Given the description of an element on the screen output the (x, y) to click on. 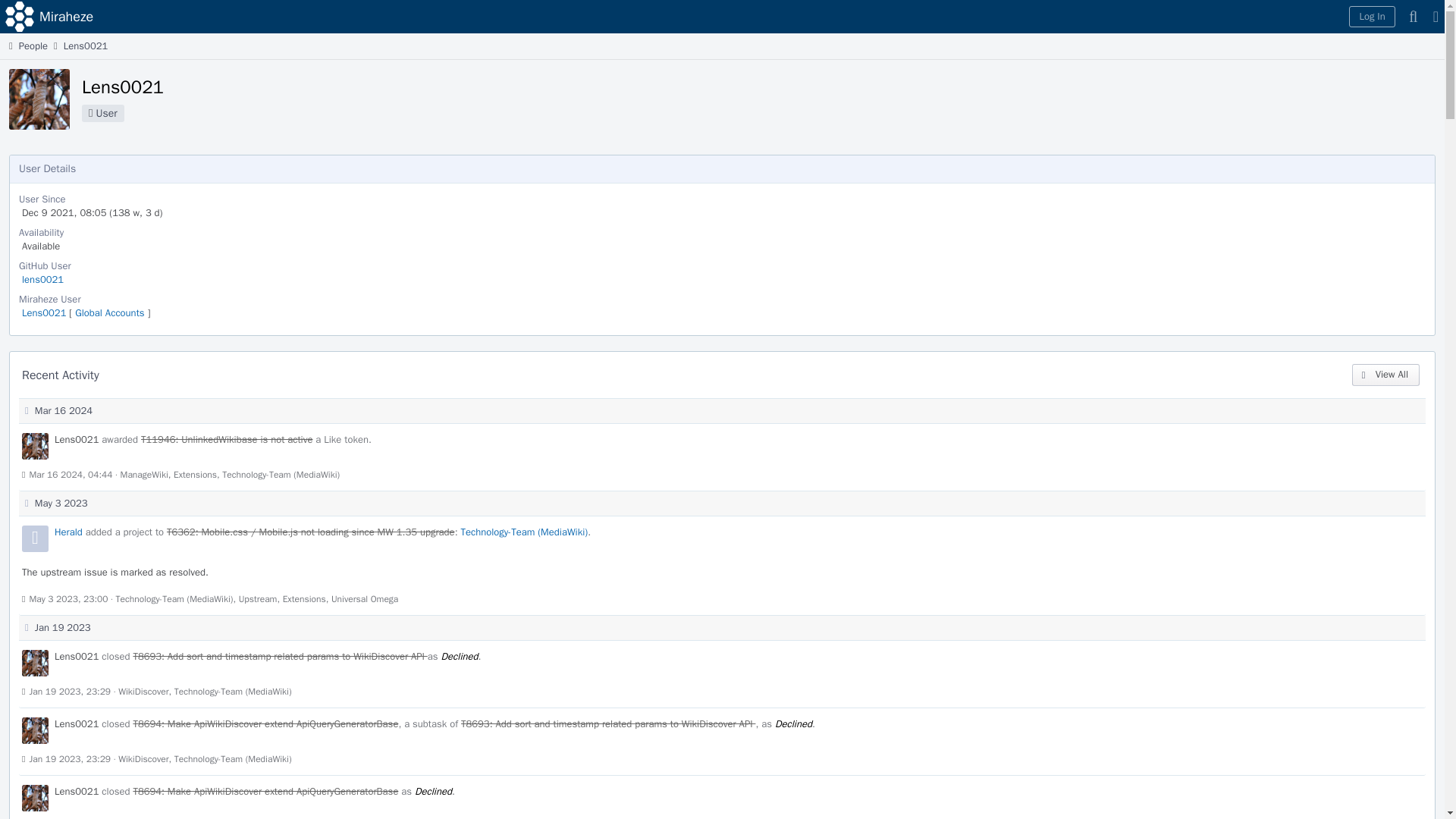
Miraheze (50, 16)
Lens0021 (85, 45)
Lens0021 (77, 439)
Upstream (258, 598)
Jan 19 2023, 23:29 (69, 691)
Mar 16 2024, 04:44 (70, 474)
May 3 2023, 23:00 (68, 598)
Extensions (304, 598)
People (26, 45)
